Given the description of an element on the screen output the (x, y) to click on. 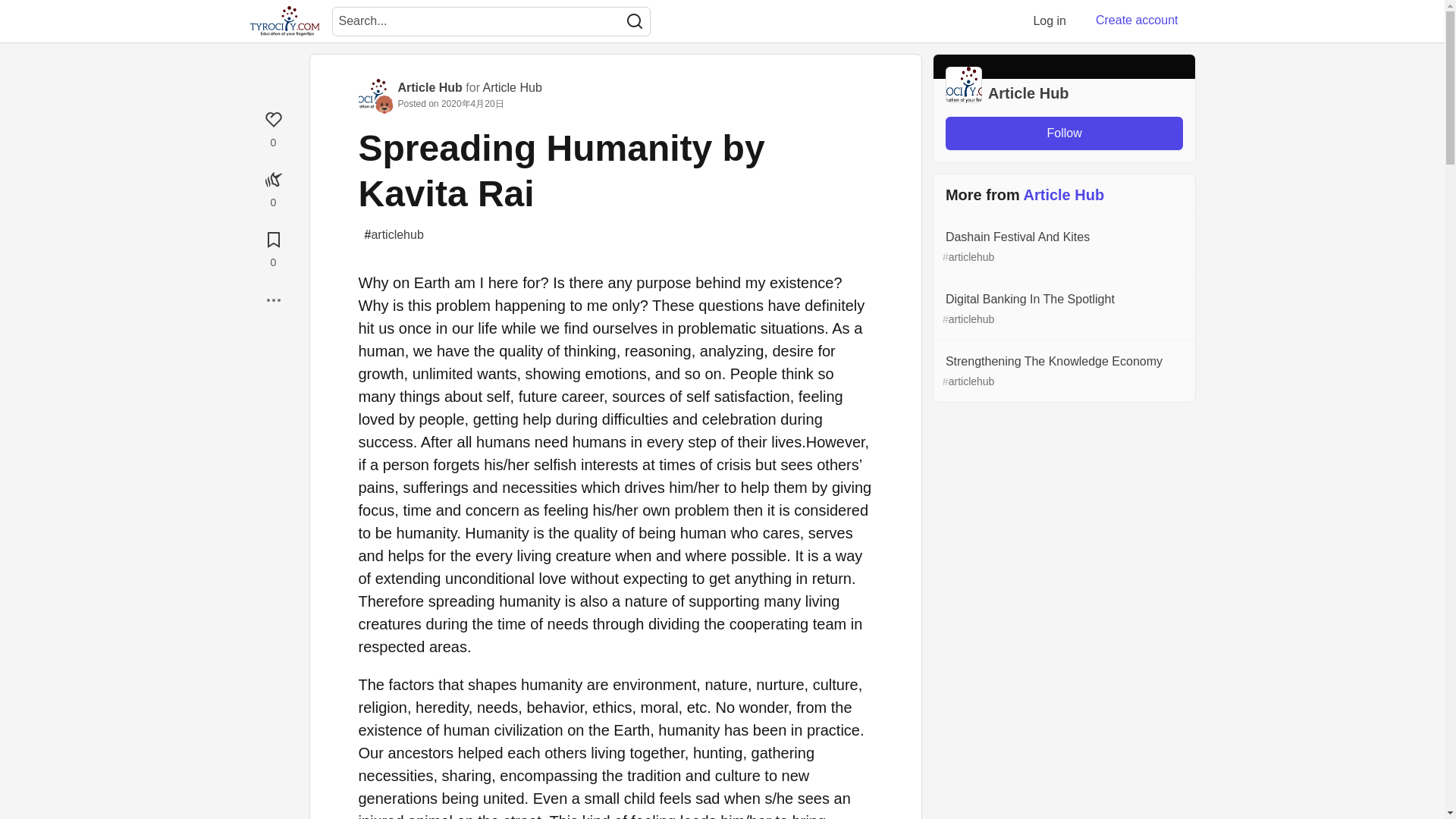
0 (272, 247)
0 (272, 127)
More... (272, 300)
Search (633, 21)
Article Hub (429, 87)
Article Hub (512, 87)
0 (272, 187)
Search (633, 21)
More... (272, 299)
Create account (1136, 20)
